Given the description of an element on the screen output the (x, y) to click on. 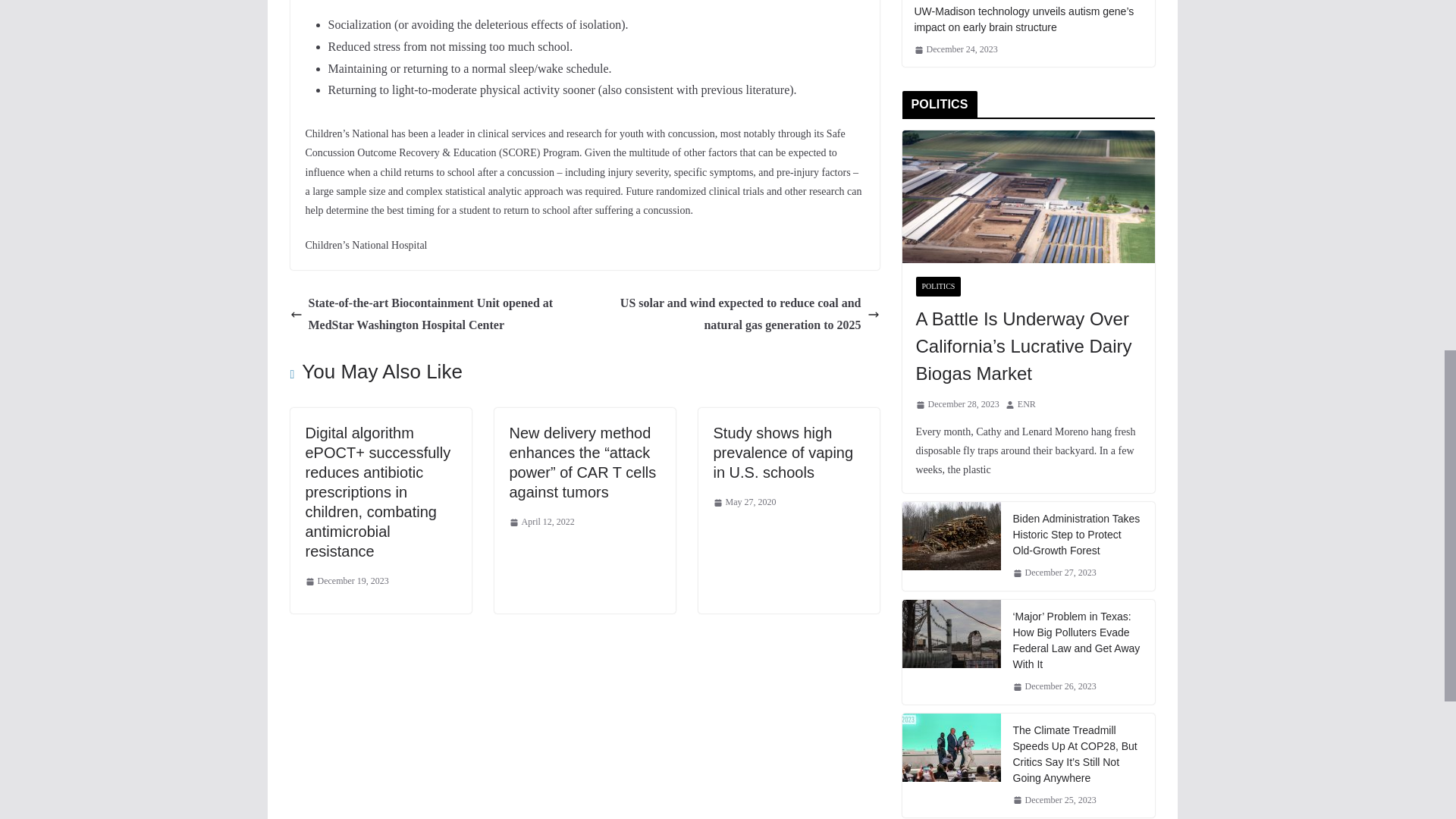
Study shows high prevalence of vaping in U.S. schools (783, 452)
May 27, 2020 (744, 502)
April 12, 2022 (542, 522)
8:53 pm (542, 522)
9:02 pm (346, 581)
Study shows high prevalence of vaping in U.S. schools (783, 452)
December 19, 2023 (346, 581)
